Given the description of an element on the screen output the (x, y) to click on. 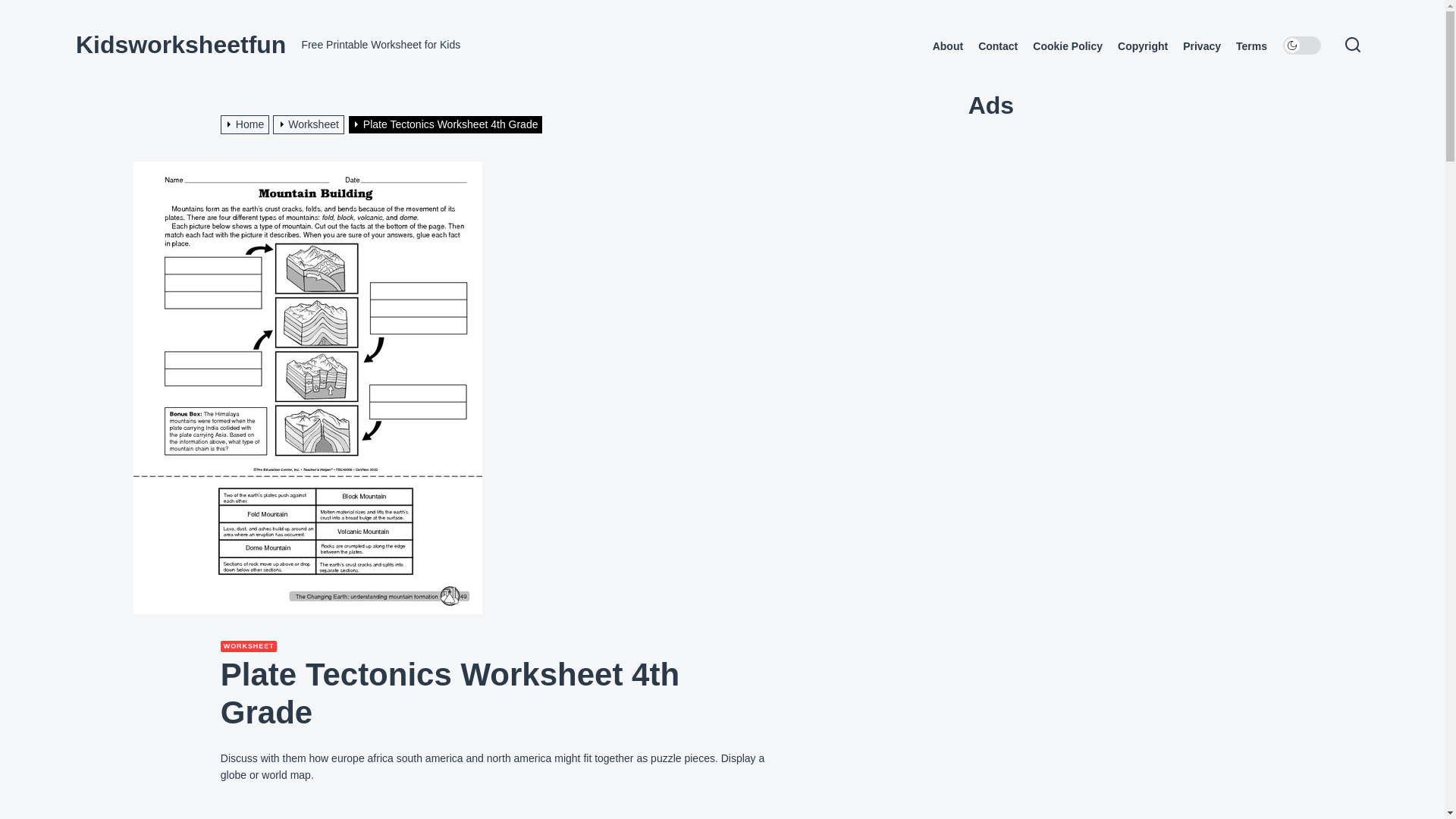
WORKSHEET (249, 645)
Cookie Policy (1067, 46)
Copyright (1142, 46)
Privacy (1201, 46)
Terms (1251, 46)
About (947, 46)
Home (247, 123)
Plate Tectonics Worksheet 4th Grade (447, 123)
Kidsworksheetfun (180, 44)
Contact (997, 46)
Worksheet (310, 123)
